Given the description of an element on the screen output the (x, y) to click on. 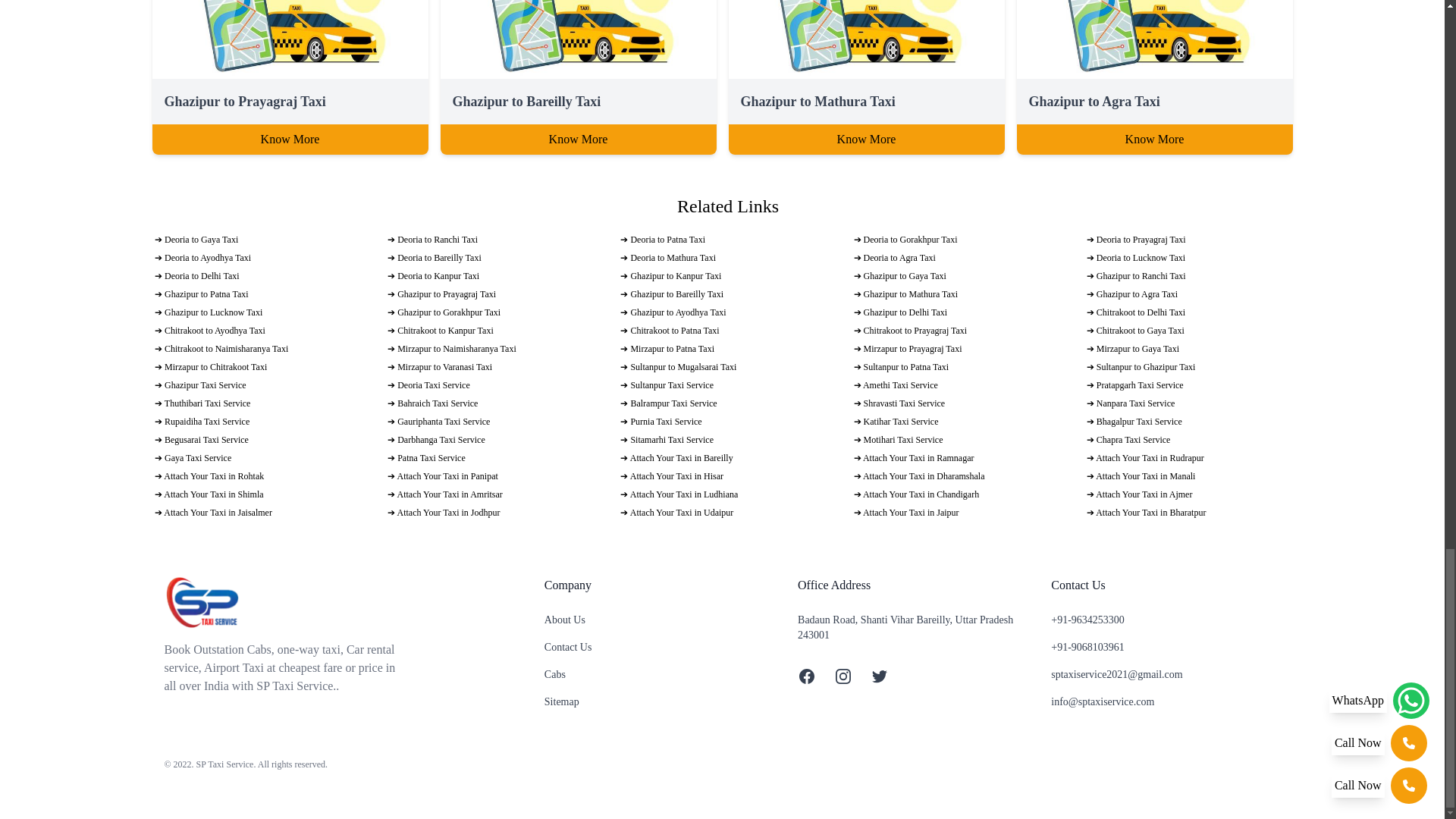
Know More (577, 139)
Know More (1154, 139)
Know More (866, 139)
Know More (289, 139)
